Given the description of an element on the screen output the (x, y) to click on. 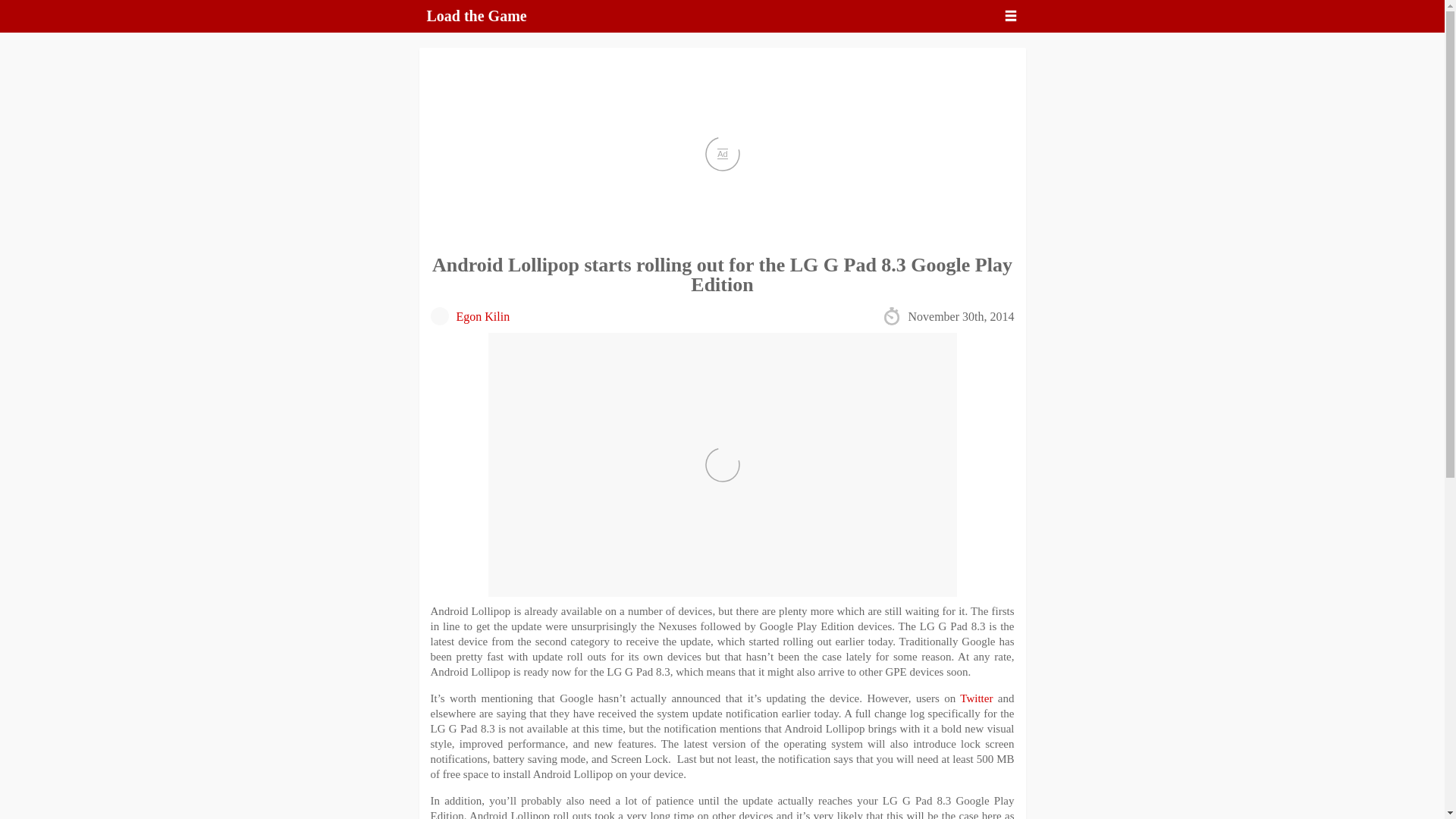
Load the Game (475, 15)
Author (470, 313)
Twitter (975, 698)
Egon Kilin (484, 316)
Published Date (948, 313)
